Given the description of an element on the screen output the (x, y) to click on. 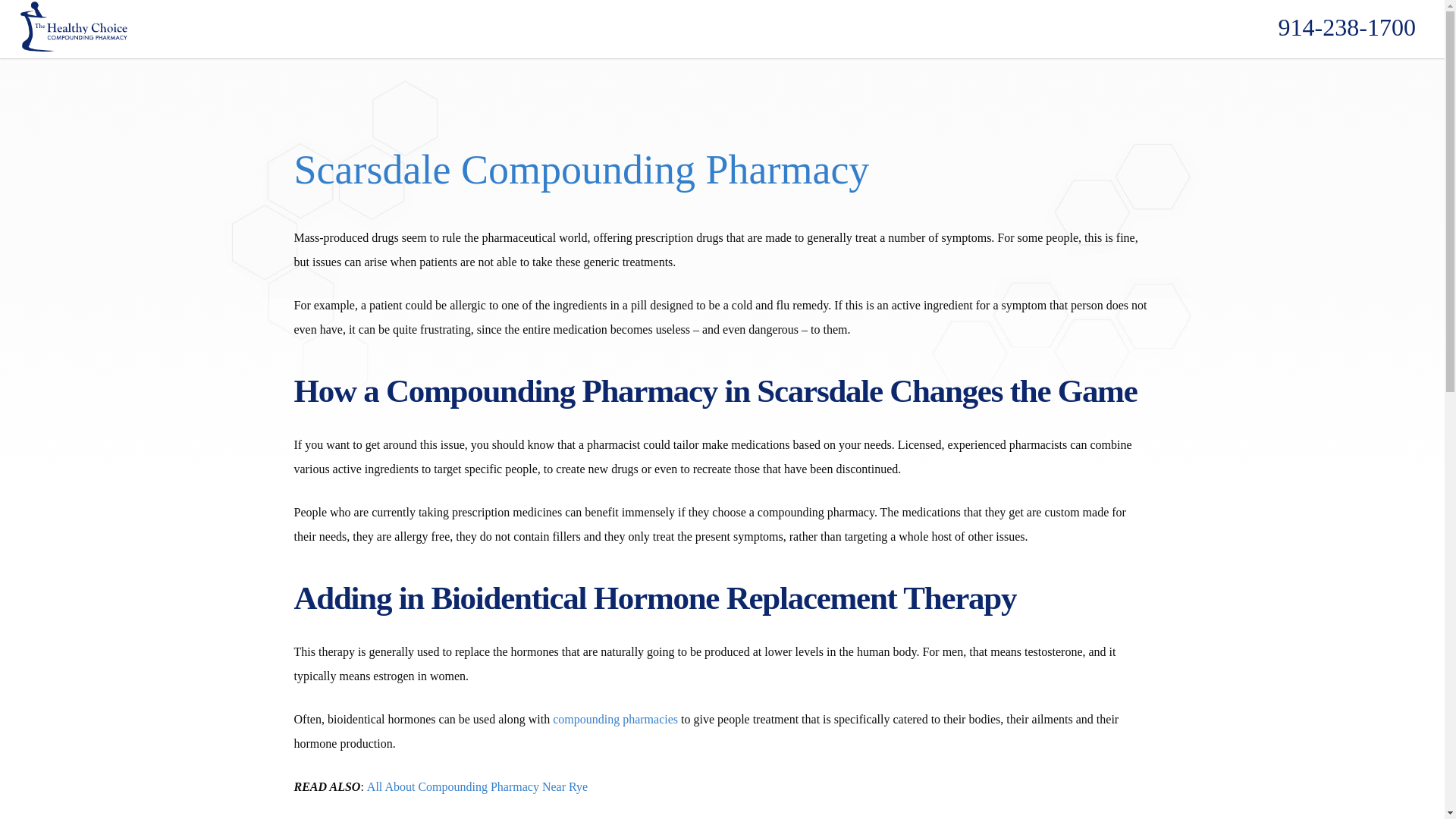
All About Compounding Pharmacy Near Rye (477, 786)
All About Compounding Pharmacy Near Rye (477, 786)
compounding pharmacies (615, 718)
914-238-1700 (1346, 27)
